Given the description of an element on the screen output the (x, y) to click on. 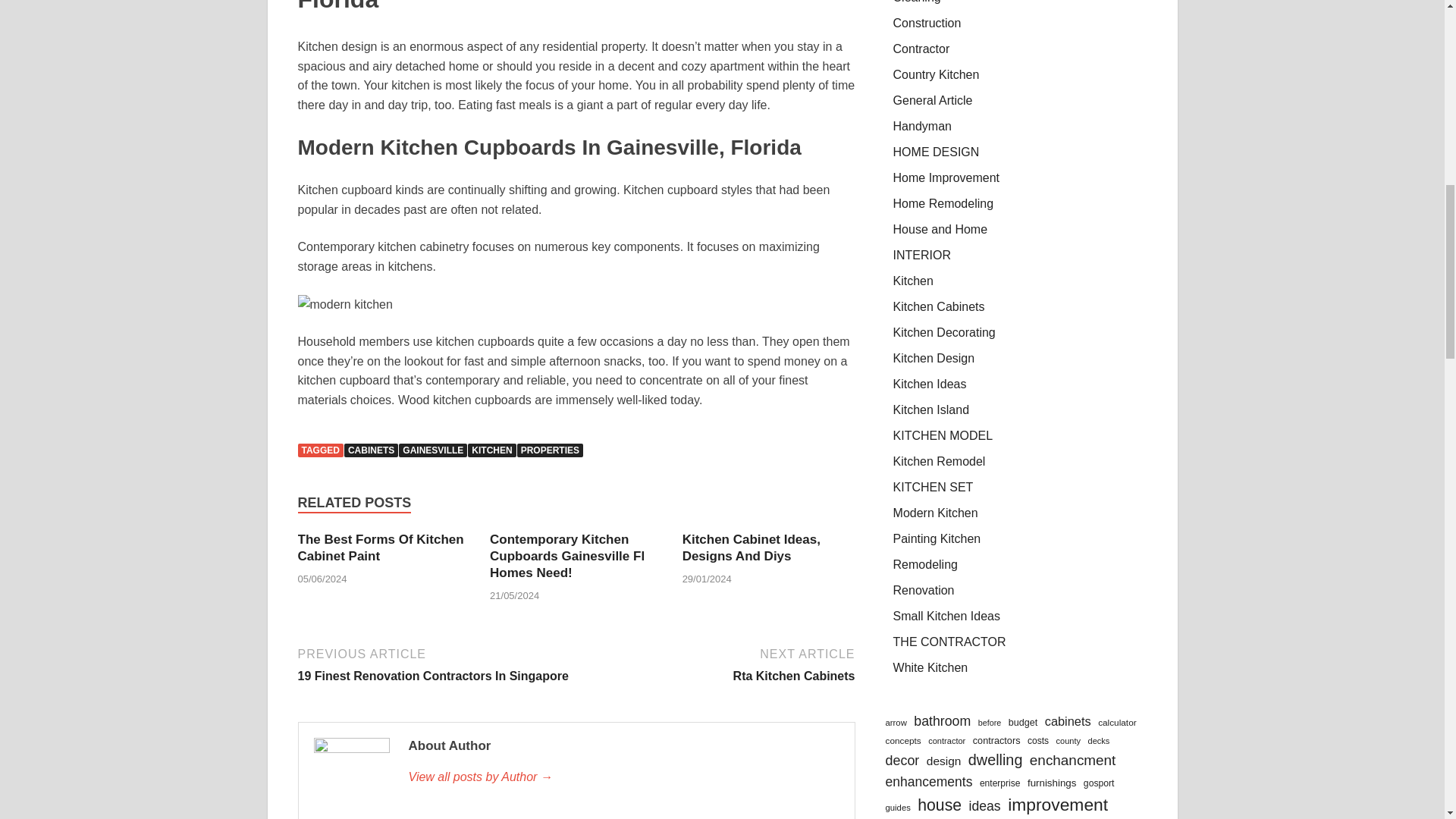
Contemporary Kitchen Cupboards Gainesville Fl Homes Need! (567, 555)
The Best Forms Of Kitchen Cabinet Paint (380, 547)
Author (622, 777)
Kitchen Cabinet Ideas, Designs And Diys (751, 547)
